Given the description of an element on the screen output the (x, y) to click on. 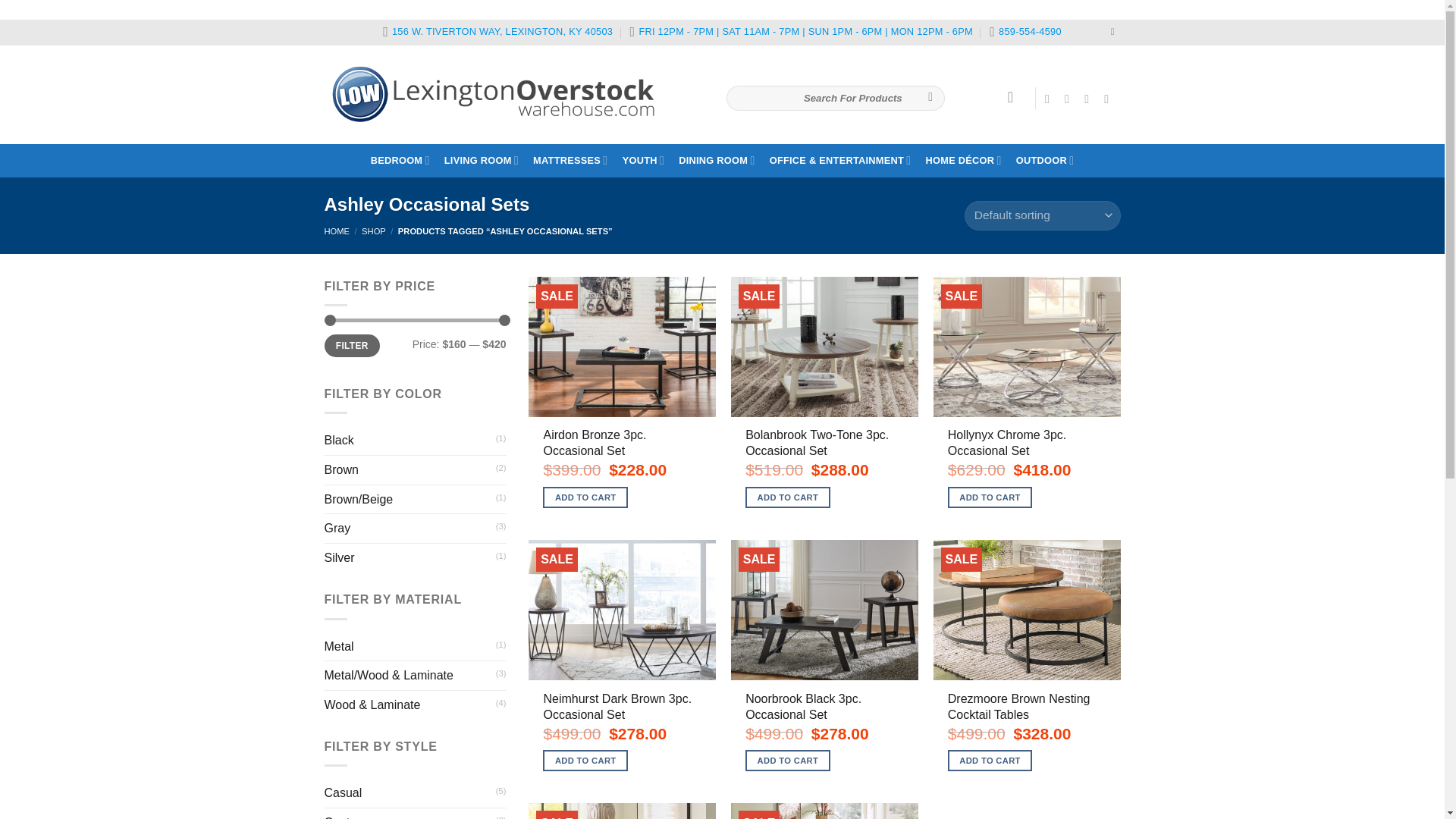
859-554-4590 (1025, 32)
BEDROOM (399, 160)
156 W. TIVERTON WAY, LEXINGTON, KY 40503 (497, 32)
Cart (1015, 96)
LIVING ROOM (480, 160)
